Given the description of an element on the screen output the (x, y) to click on. 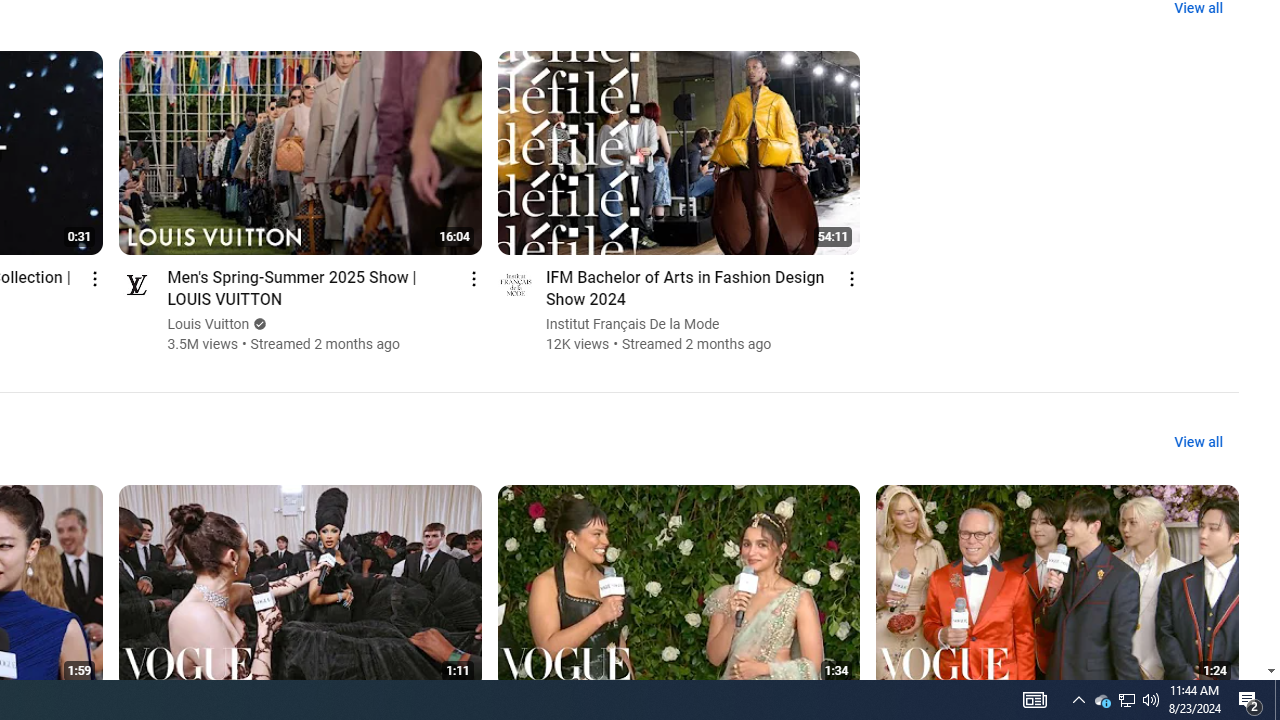
View all (1198, 442)
Verified (258, 323)
Louis Vuitton (208, 323)
Action menu (852, 277)
Go to channel (514, 284)
